Given the description of an element on the screen output the (x, y) to click on. 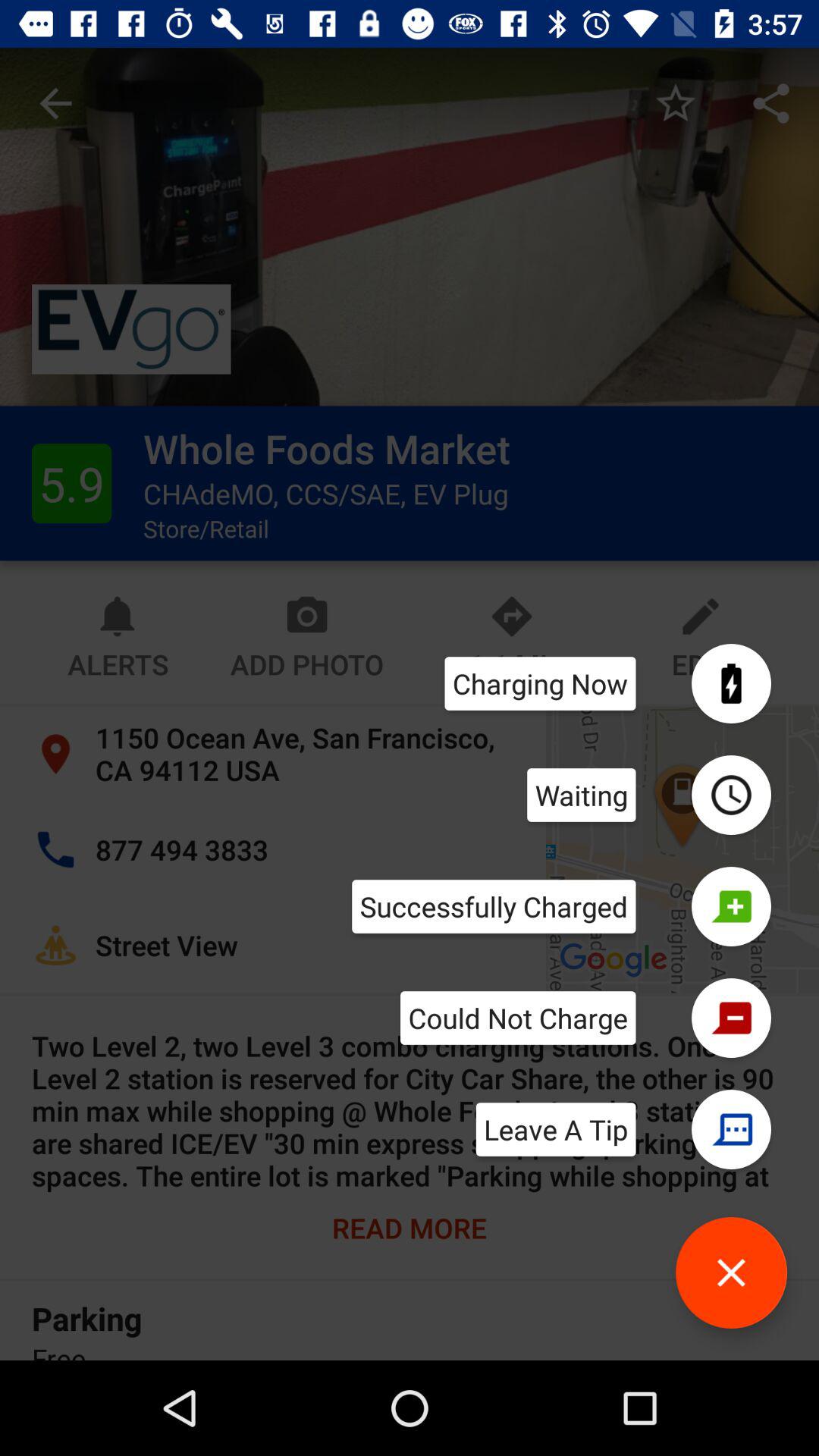
swipe to the leave a tip (555, 1129)
